Given the description of an element on the screen output the (x, y) to click on. 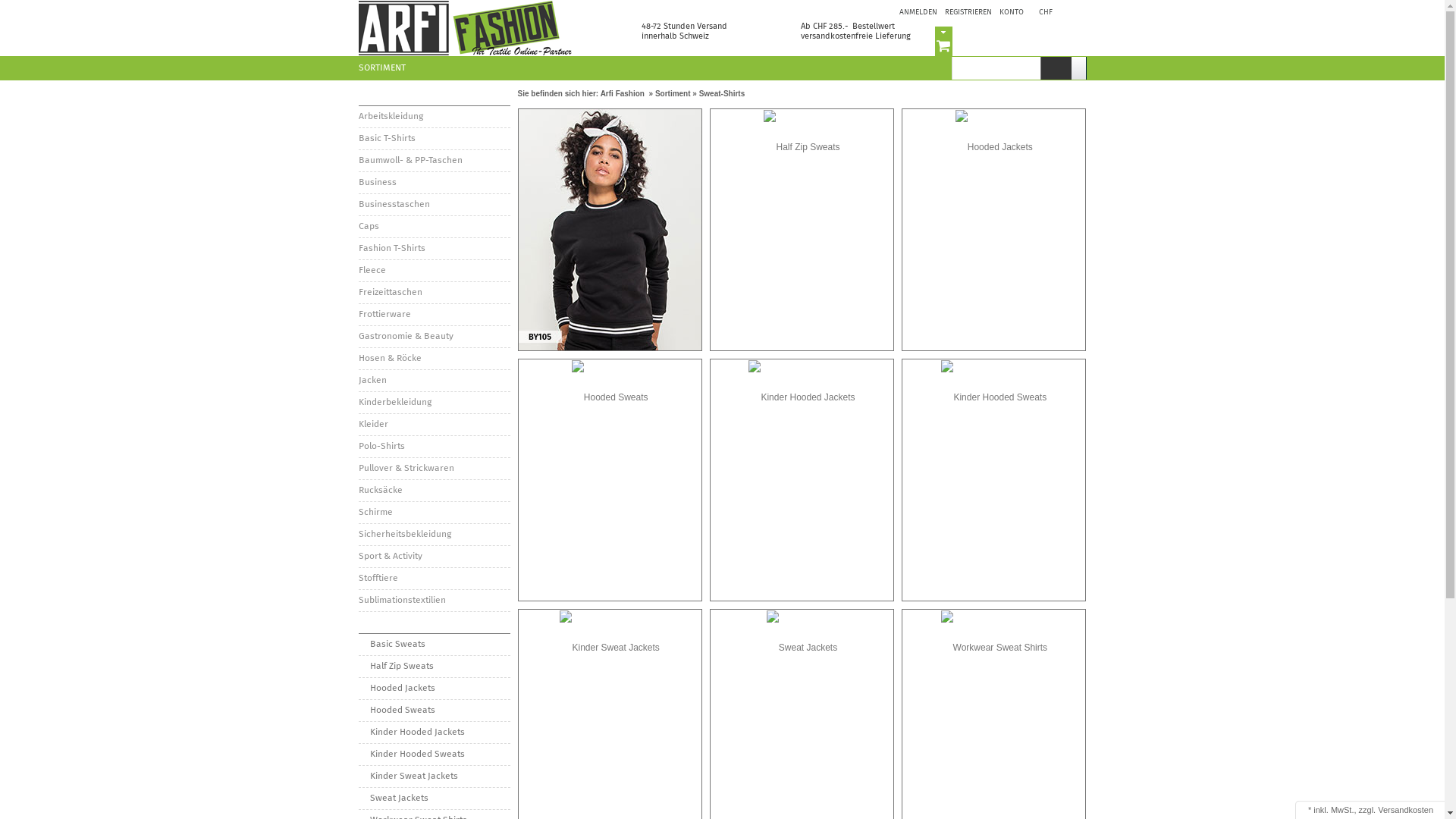
Business Element type: text (433, 182)
Frottierware Element type: text (433, 314)
Sport & Activity Element type: text (433, 556)
DE Element type: text (1074, 11)
Businesstaschen Element type: text (433, 204)
Caps Element type: text (433, 226)
ANMELDEN Element type: text (918, 11)
SWEAT-SHIRTS Element type: text (433, 622)
CHF Element type: text (1046, 11)
Hooded Sweats Element type: text (433, 710)
Kinder Hooded Sweats Element type: text (433, 754)
Stofftiere Element type: text (433, 578)
Gastronomie & Beauty Element type: text (433, 336)
Hooded Jackets Element type: text (433, 688)
Sublimationstextilien Element type: text (433, 600)
Kinder Hooded Jackets Element type: text (433, 732)
Basic Sweats Element type: text (433, 644)
Kleider Element type: text (433, 424)
KONTO Element type: text (1012, 11)
Half Zip Sweats Element type: text (433, 666)
Kinderbekleidung Element type: text (433, 402)
SORTIMENT Element type: text (433, 95)
Polo-Shirts Element type: text (433, 446)
REGISTRIEREN Element type: text (967, 11)
Jacken Element type: text (433, 380)
Baumwoll- & PP-Taschen Element type: text (433, 160)
Arfi Fashion Element type: hover (464, 28)
Arfi Fashion Element type: text (623, 93)
Basic T-Shirts Element type: text (433, 138)
Fashion T-Shirts Element type: text (433, 248)
Freizeittaschen Element type: text (433, 292)
Arbeitskleidung Element type: text (433, 116)
Kinder Sweat Jackets Element type: text (433, 776)
Pullover & Strickwaren Element type: text (433, 468)
Sicherheitsbekleidung Element type: text (433, 534)
Sortiment Element type: text (672, 93)
Schirme Element type: text (433, 512)
Fleece Element type: text (433, 270)
Sweat Jackets Element type: text (433, 798)
SORTIMENT Element type: text (384, 67)
Sweat-Shirts Element type: text (722, 93)
